Given the description of an element on the screen output the (x, y) to click on. 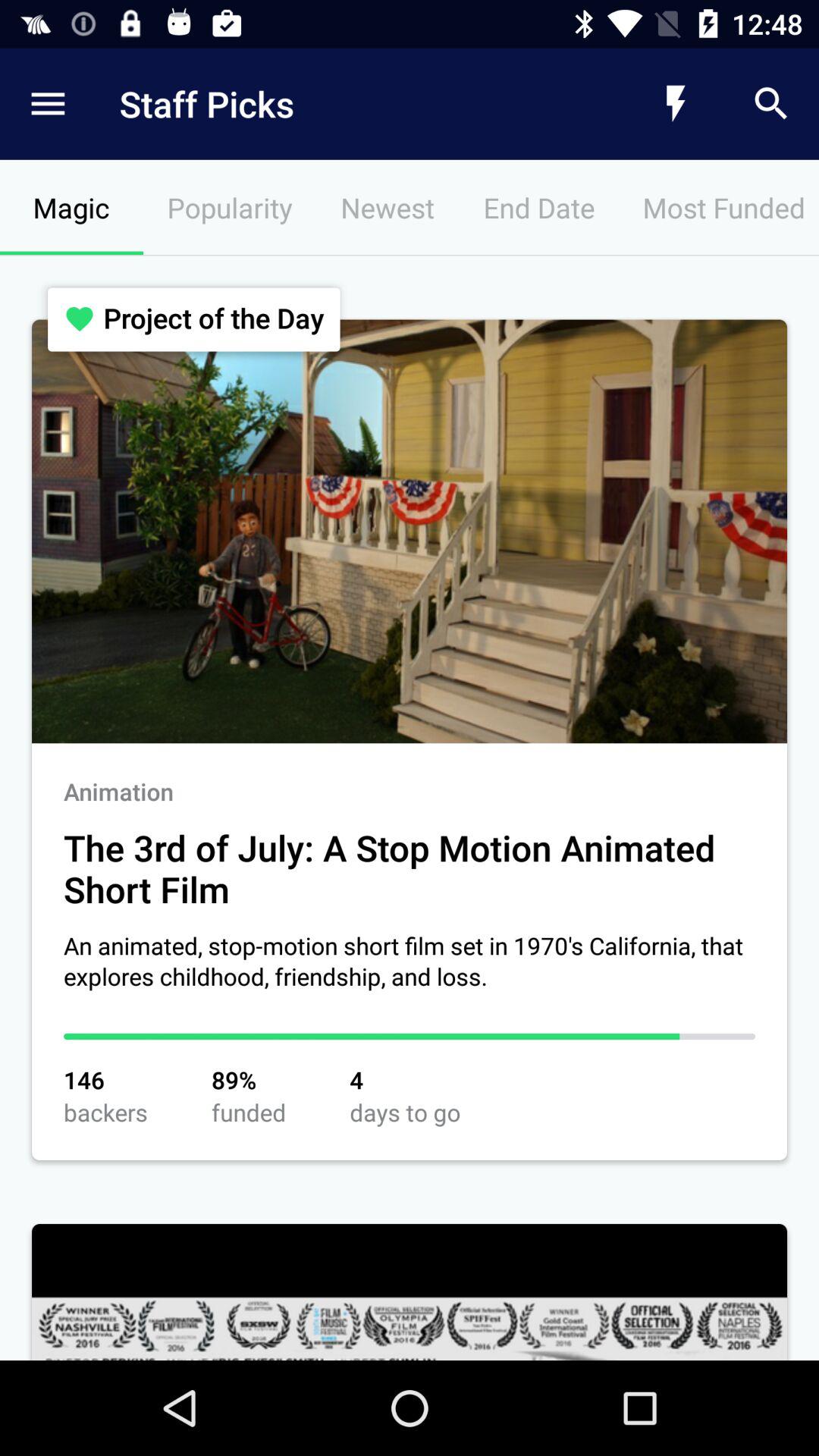
turn off the icon above the most funded (675, 103)
